Given the description of an element on the screen output the (x, y) to click on. 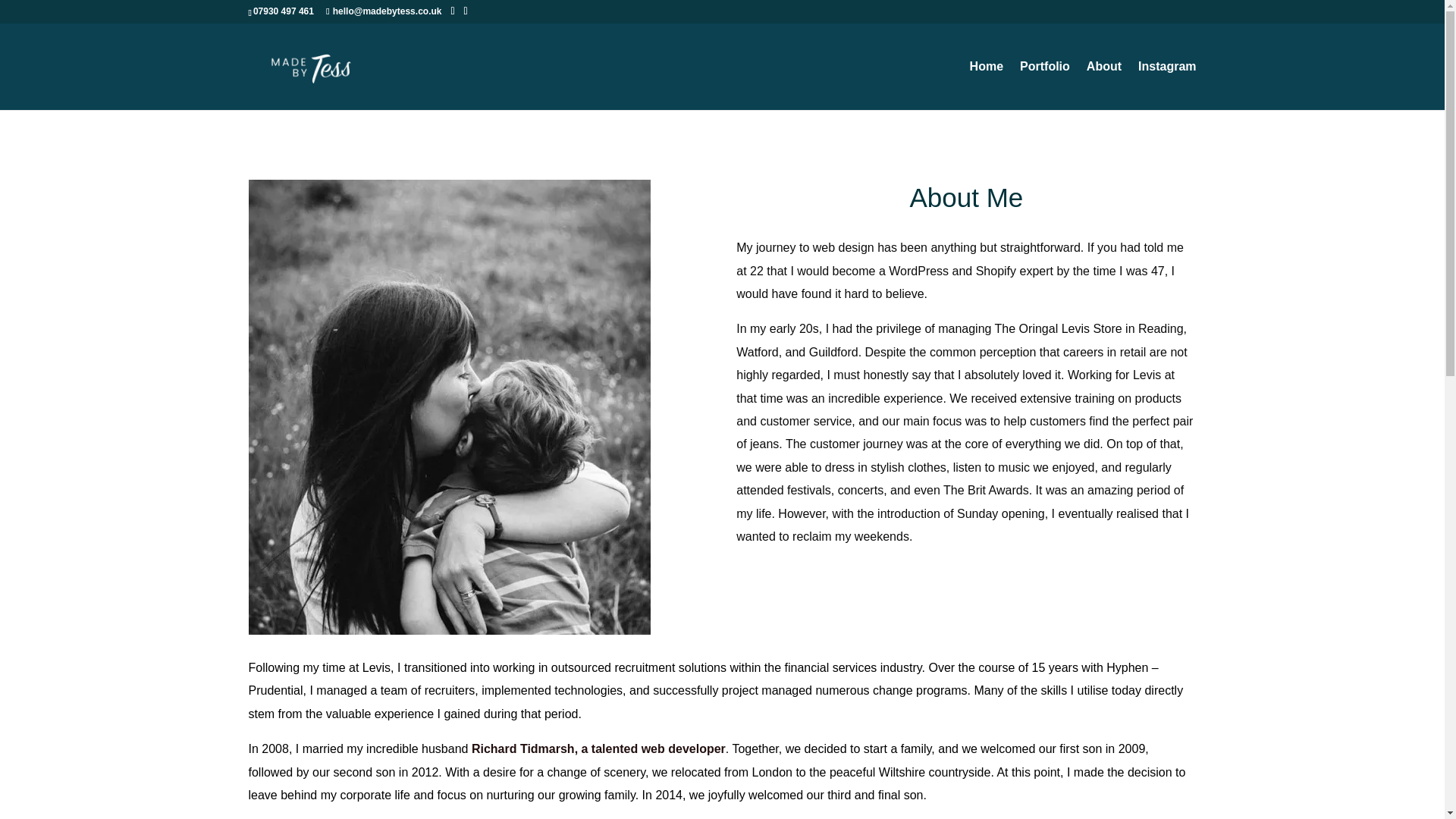
Instagram (1166, 85)
Richard Tidmarsh, a talented web developer (598, 748)
Portfolio (1045, 85)
